Given the description of an element on the screen output the (x, y) to click on. 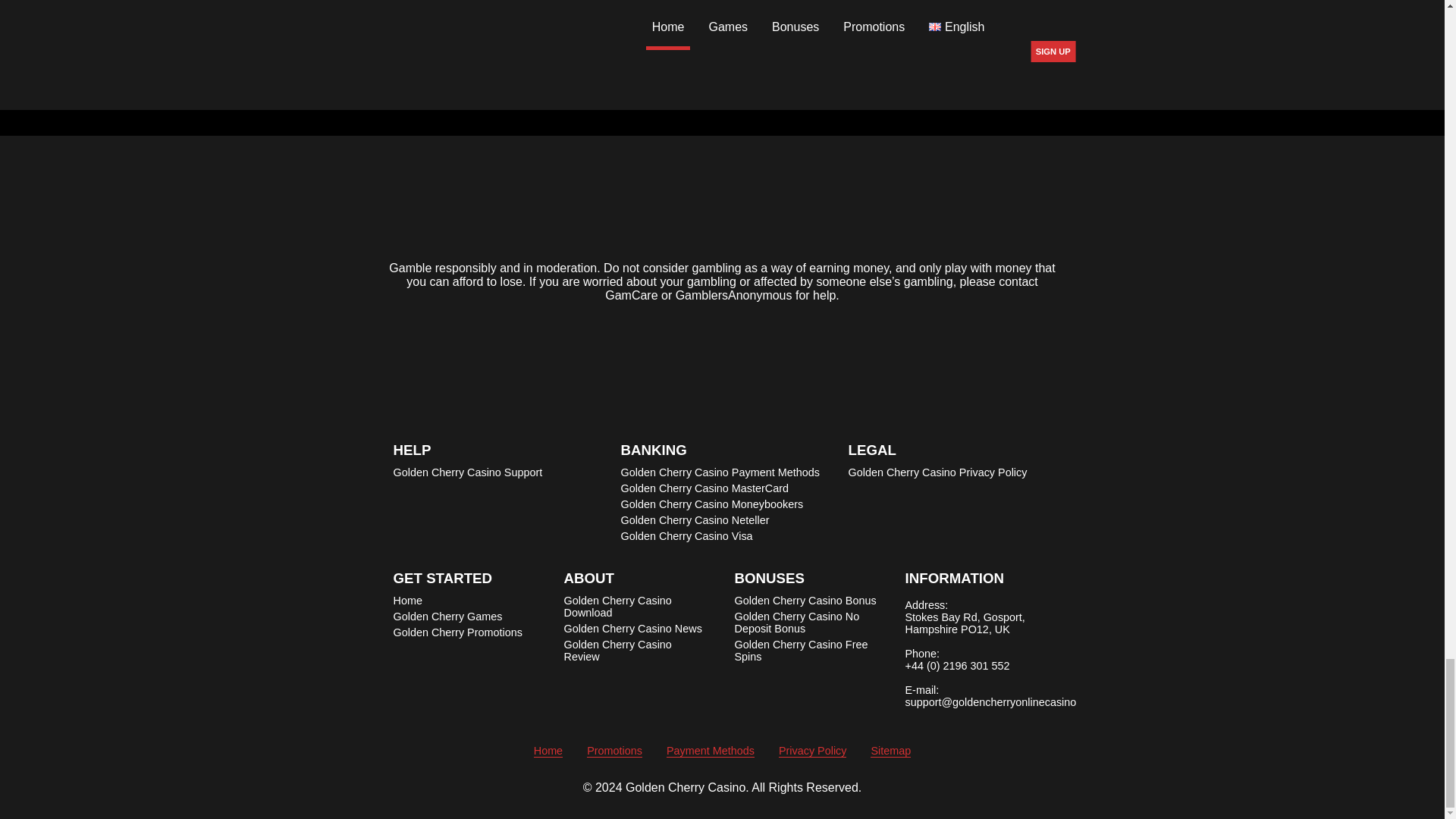
Golden Cherry Casino Moneybookers (711, 503)
Golden Cherry Casino Support (467, 472)
Golden Cherry Casino Visa (686, 535)
Home (407, 600)
Golden Cherry Casino Payment Methods (719, 472)
Golden Cherry Casino MasterCard (704, 488)
Golden Cherry Casino Privacy Policy (936, 472)
Golden Cherry Casino Neteller (694, 520)
